Given the description of an element on the screen output the (x, y) to click on. 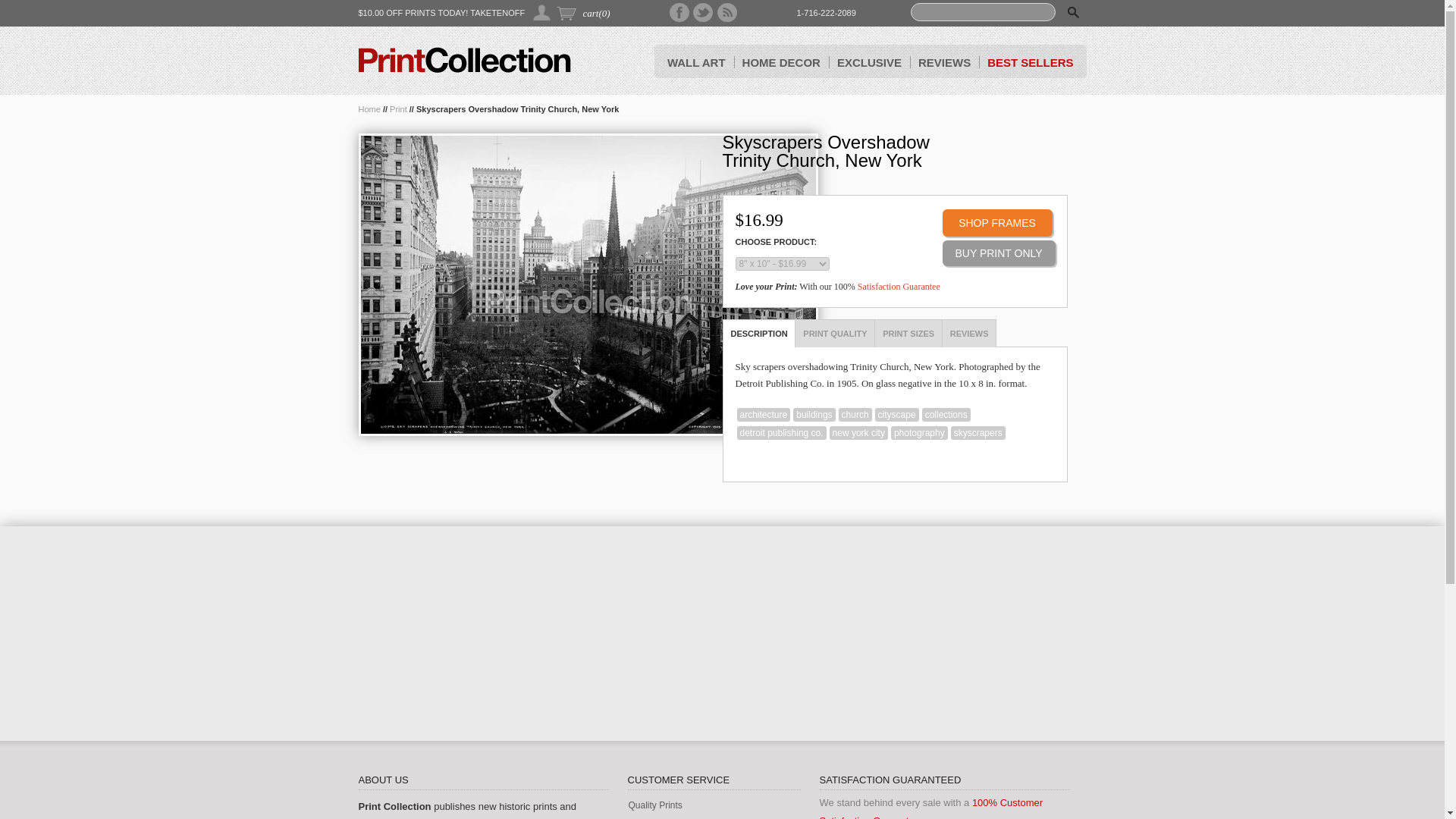
Print (398, 108)
SHOP FRAMES (996, 222)
collections (946, 414)
skyscrapers (978, 432)
Home (369, 108)
REVIEWS (944, 60)
My Account  (541, 12)
cityscape (896, 414)
Back to the frontpage (369, 108)
Print (398, 108)
BEST SELLERS (1029, 60)
architecture (763, 414)
Buy Print Only (998, 253)
HOME DECOR (781, 60)
Buy Print Only (998, 253)
